Given the description of an element on the screen output the (x, y) to click on. 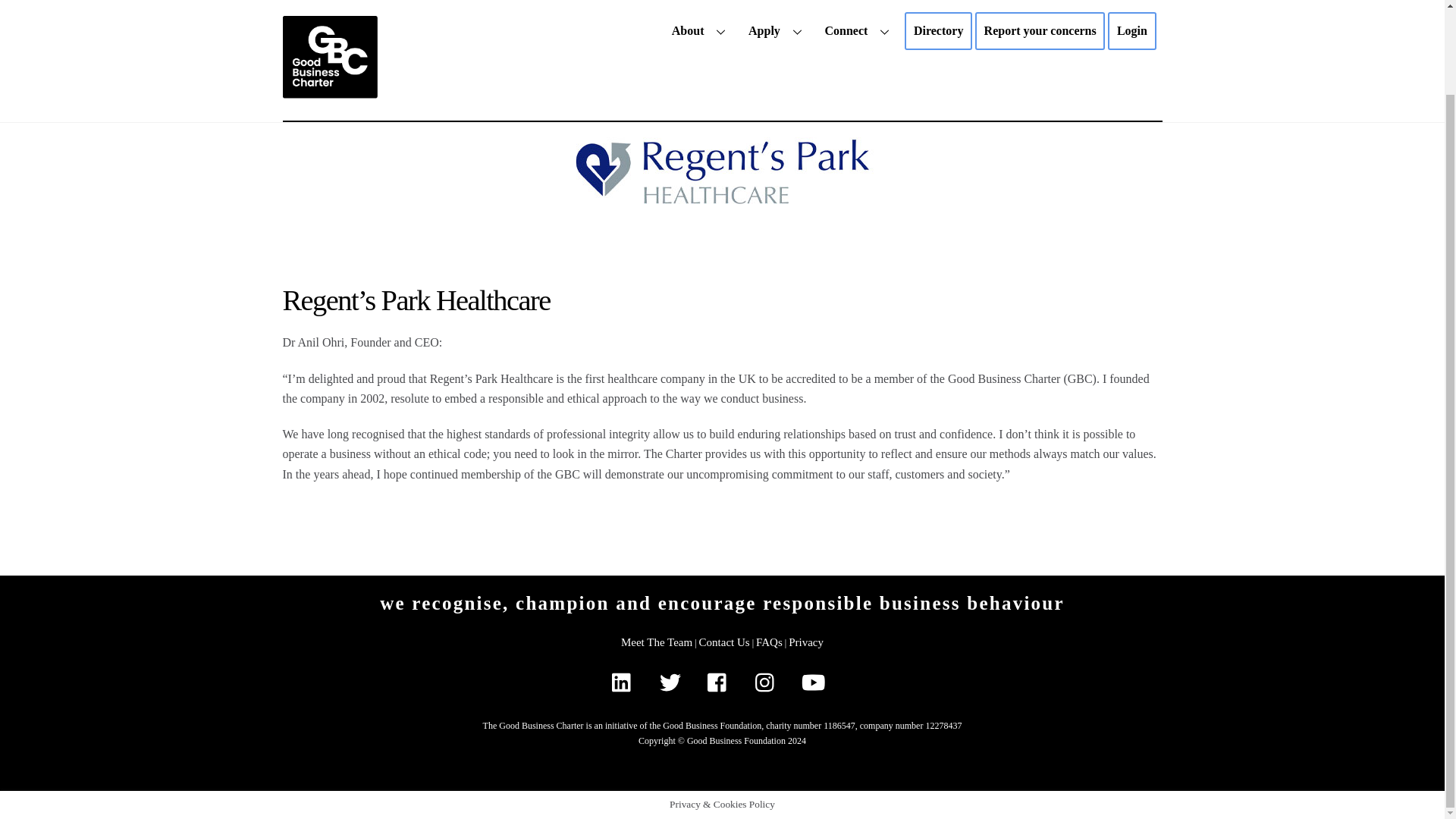
Meet The Team (657, 642)
Regents-park-health (722, 172)
Contact Us (723, 642)
FAQs (769, 642)
Privacy (806, 642)
Good Business Charter (329, 3)
